Given the description of an element on the screen output the (x, y) to click on. 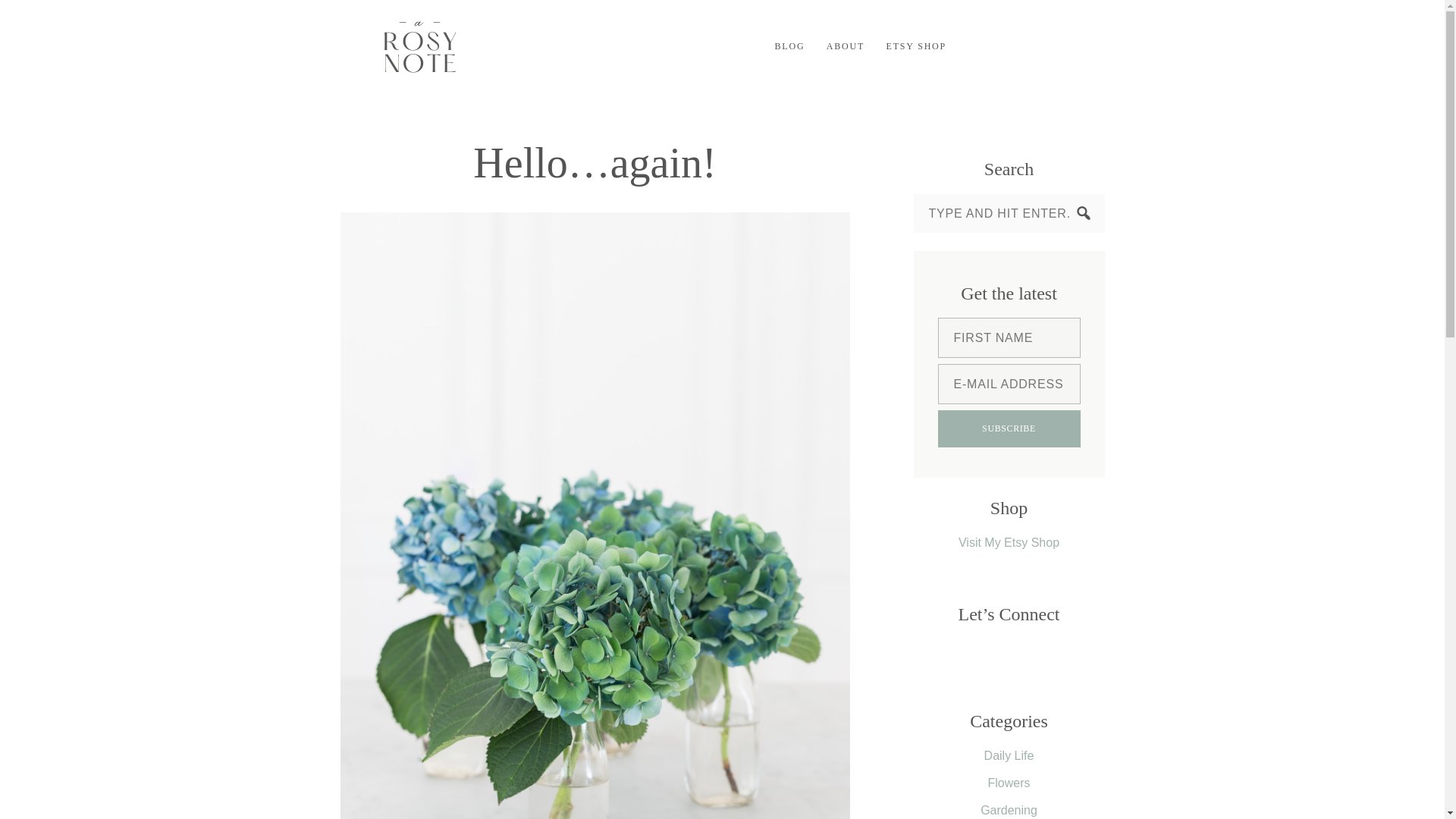
Pinterest (1074, 46)
Pinterest (1074, 46)
Instagram (1041, 46)
Facebook (1008, 46)
BLOG (789, 46)
Subscribe (1008, 428)
A ROSY NOTE (419, 46)
Visit My Etsy Shop (1008, 542)
ABOUT (844, 46)
Email (974, 46)
Subscribe (1008, 428)
Facebook (1007, 46)
Email (975, 46)
ETSY SHOP (916, 46)
